Given the description of an element on the screen output the (x, y) to click on. 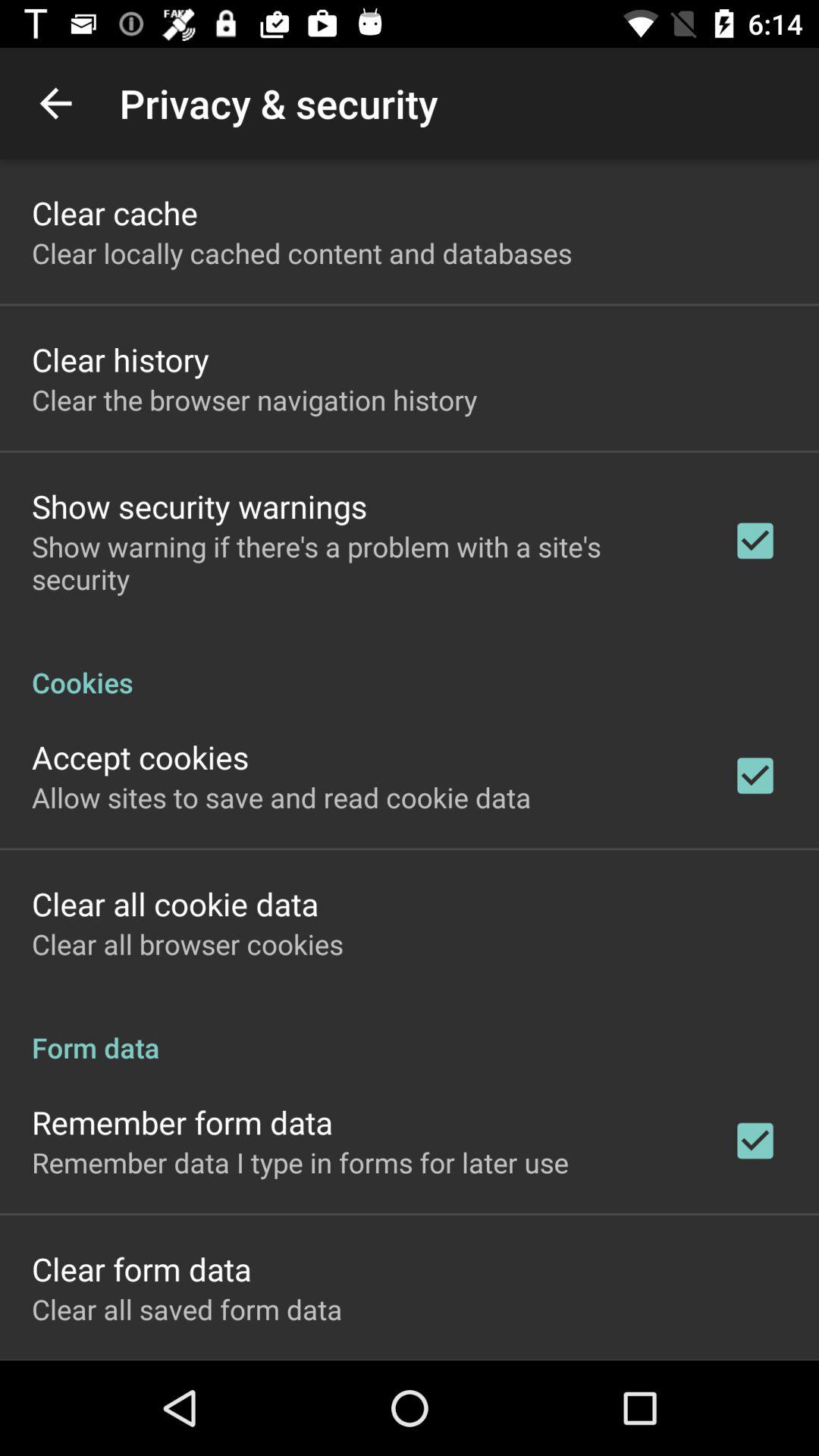
turn on accept cookies app (140, 756)
